Given the description of an element on the screen output the (x, y) to click on. 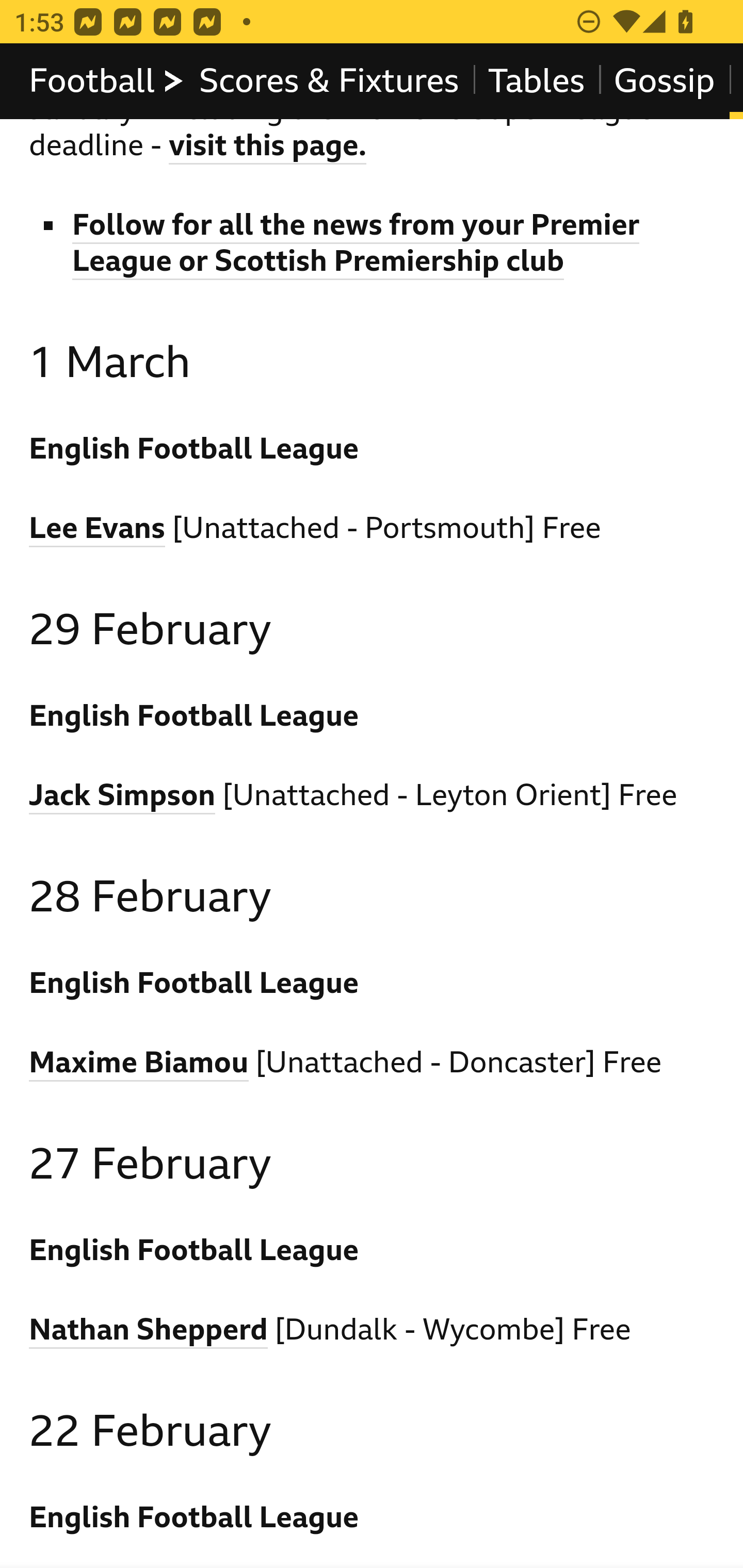
today's gossip column, (347, 68)
visit this page. (267, 148)
Lee Evans (97, 531)
Jack Simpson (122, 797)
Maxime Biamou (138, 1065)
Nathan Shepperd (148, 1331)
